Given the description of an element on the screen output the (x, y) to click on. 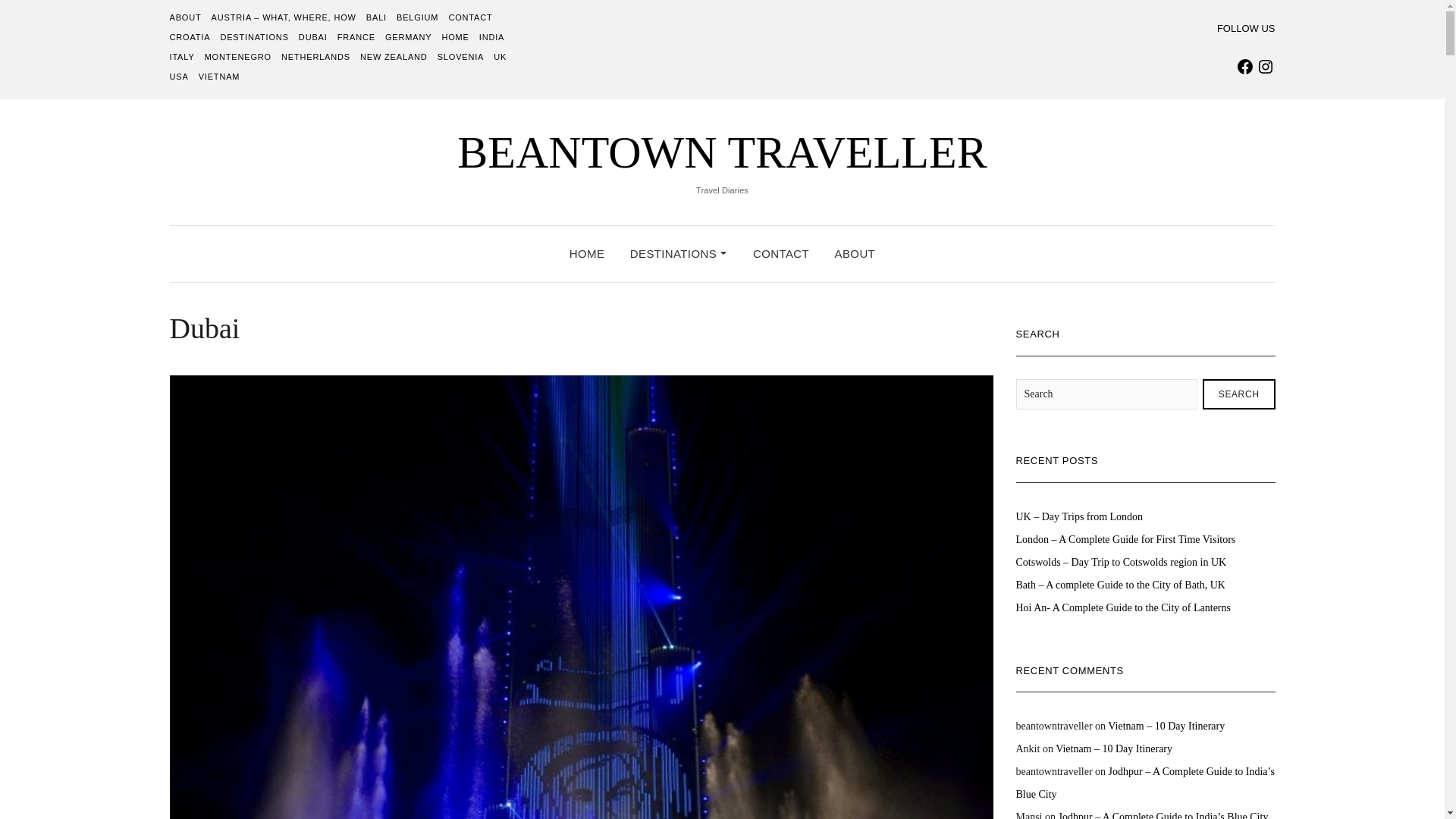
ABOUT (186, 17)
CONTACT (470, 17)
VIETNAM (219, 76)
CROATIA (190, 36)
Instagram (1265, 66)
BEANTOWN TRAVELLER (722, 152)
Facebook (1244, 66)
GERMANY (407, 36)
DESTINATIONS (253, 36)
ITALY (182, 56)
